Given the description of an element on the screen output the (x, y) to click on. 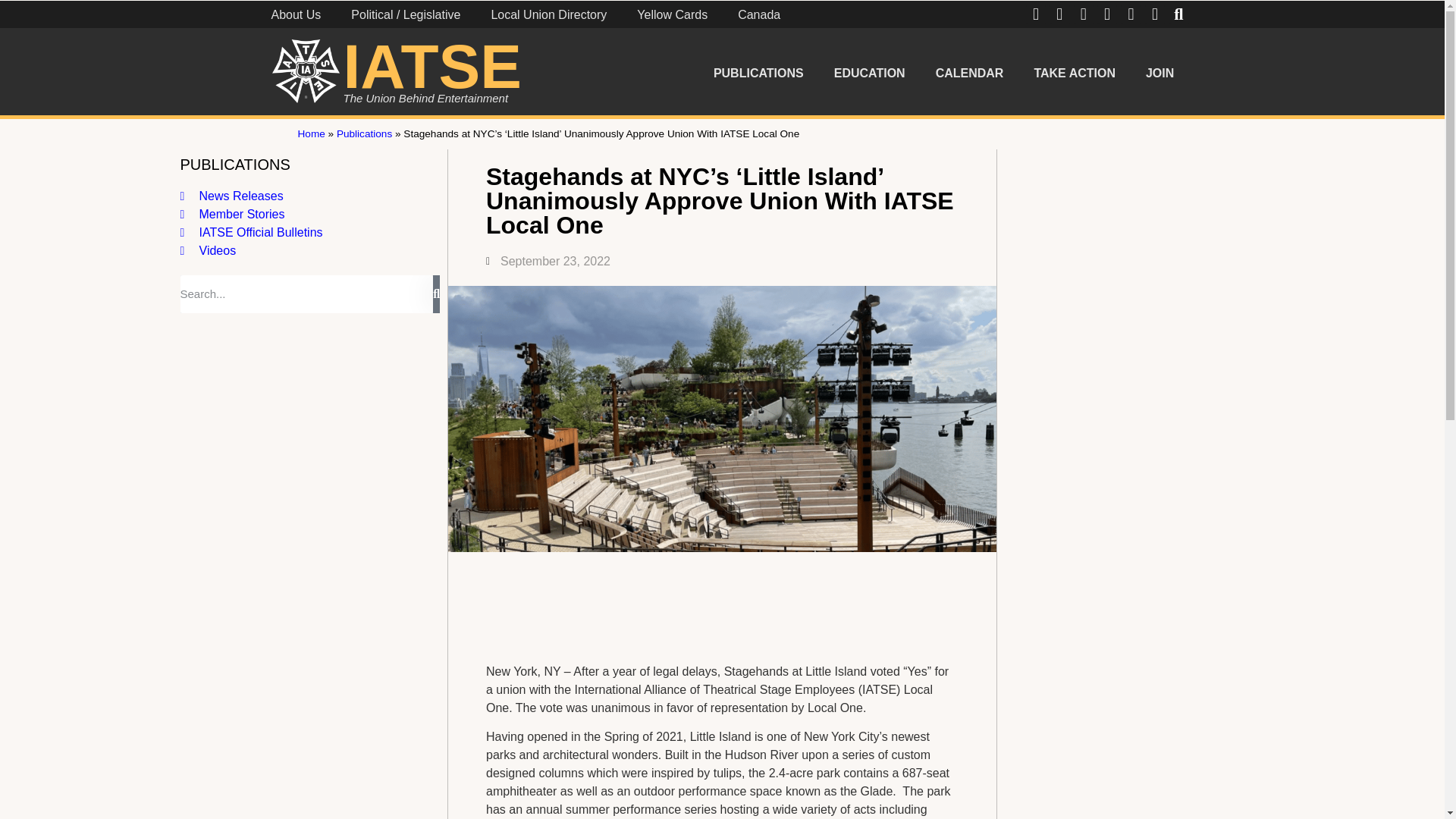
Yellow Cards (671, 16)
JOIN (1160, 73)
Search (306, 293)
About Us (296, 16)
IATSE (431, 65)
PUBLICATIONS (758, 73)
CALENDAR (969, 73)
Canada (758, 16)
TAKE ACTION (1074, 73)
Local Union Directory (548, 16)
